Given the description of an element on the screen output the (x, y) to click on. 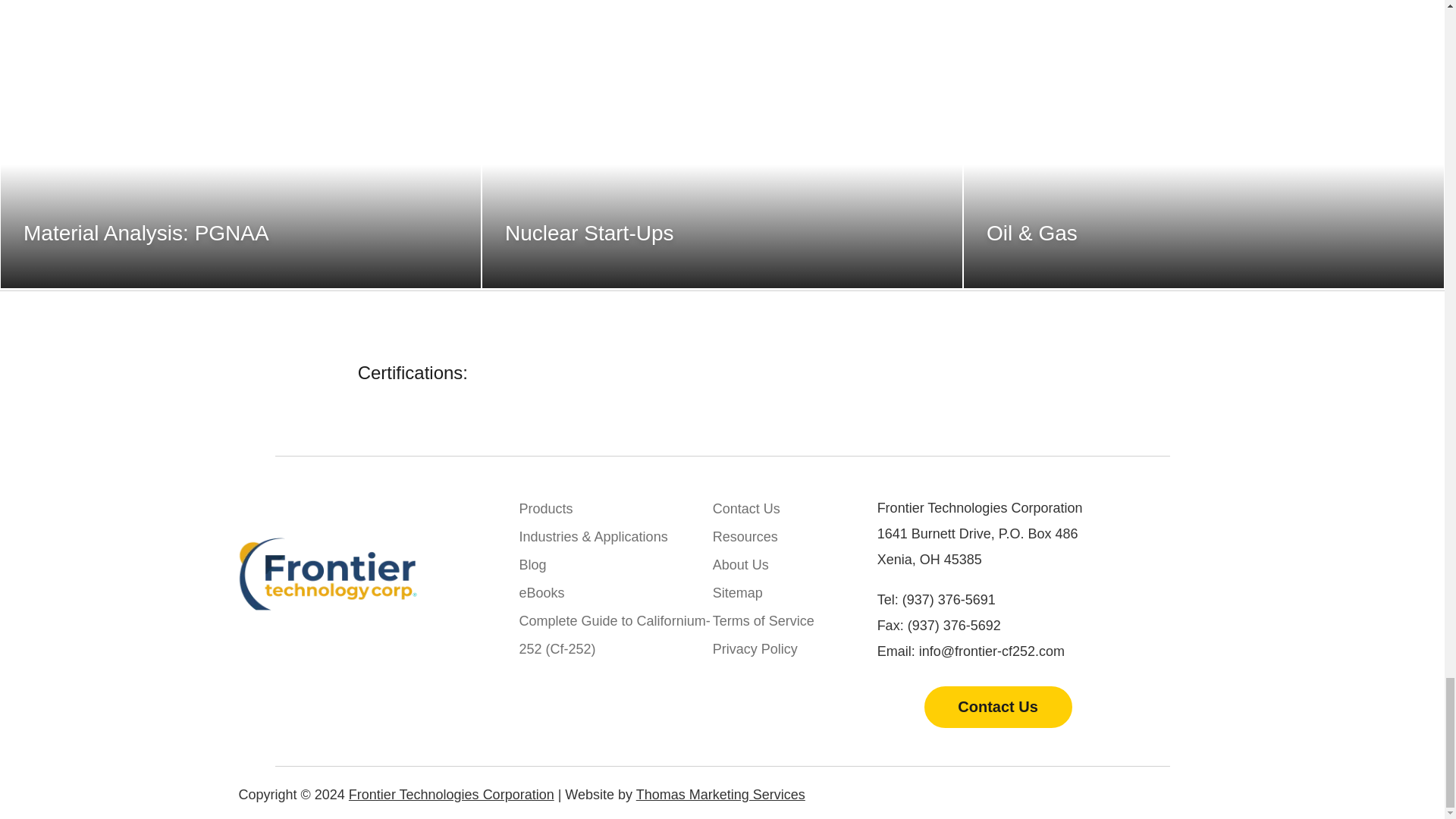
IAEA (873, 371)
Thomas Verified Supplier (565, 370)
Facebook (1199, 789)
RAM Certified (1048, 370)
LinkedIn (1149, 789)
Frontier Technology Corporation (327, 573)
